Given the description of an element on the screen output the (x, y) to click on. 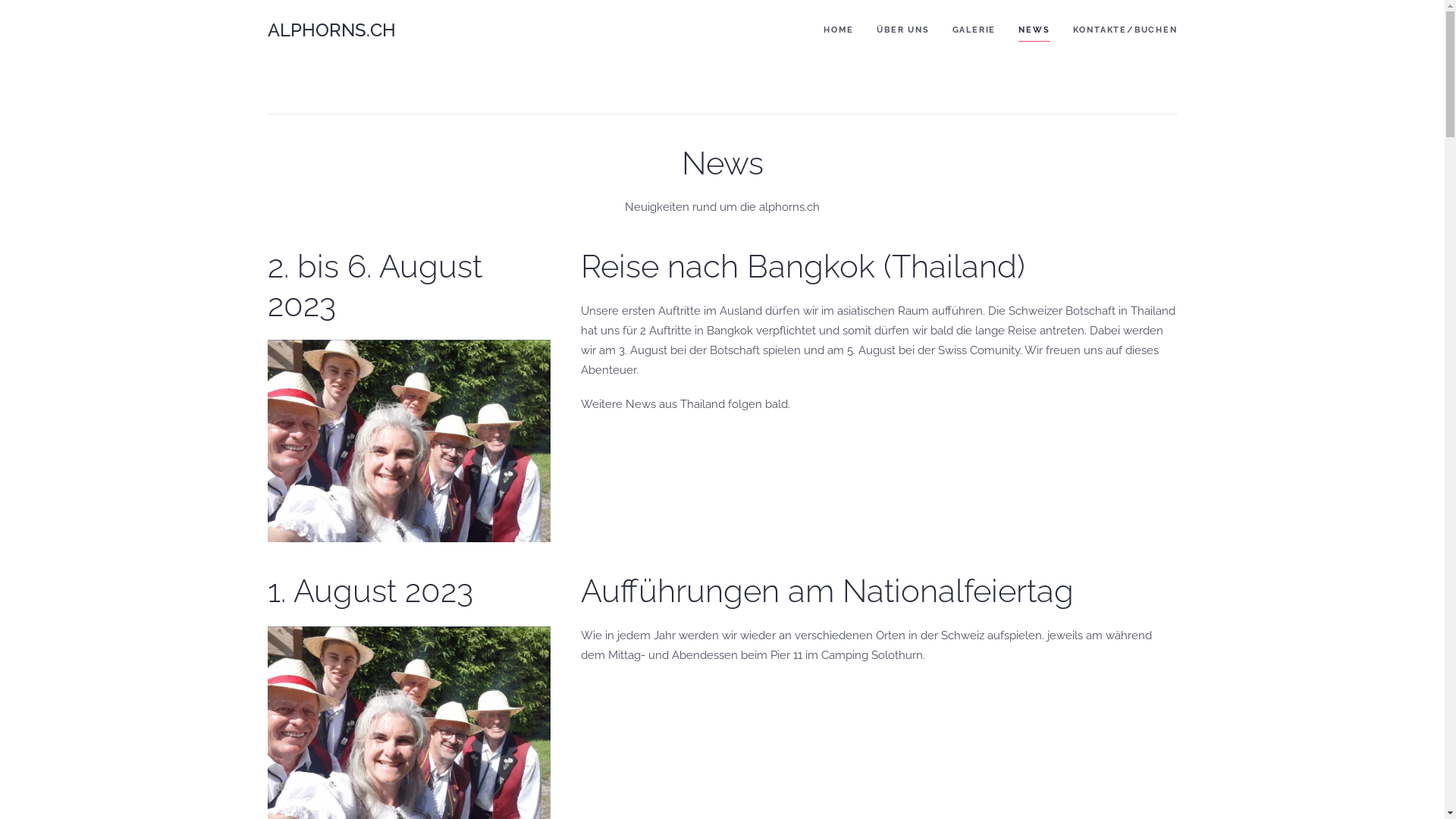
GALERIE Element type: text (974, 30)
HOME Element type: text (838, 30)
NEWS Element type: text (1033, 30)
KONTAKTE/BUCHEN Element type: text (1124, 30)
ALPHORNS.CH Element type: text (330, 30)
